Given the description of an element on the screen output the (x, y) to click on. 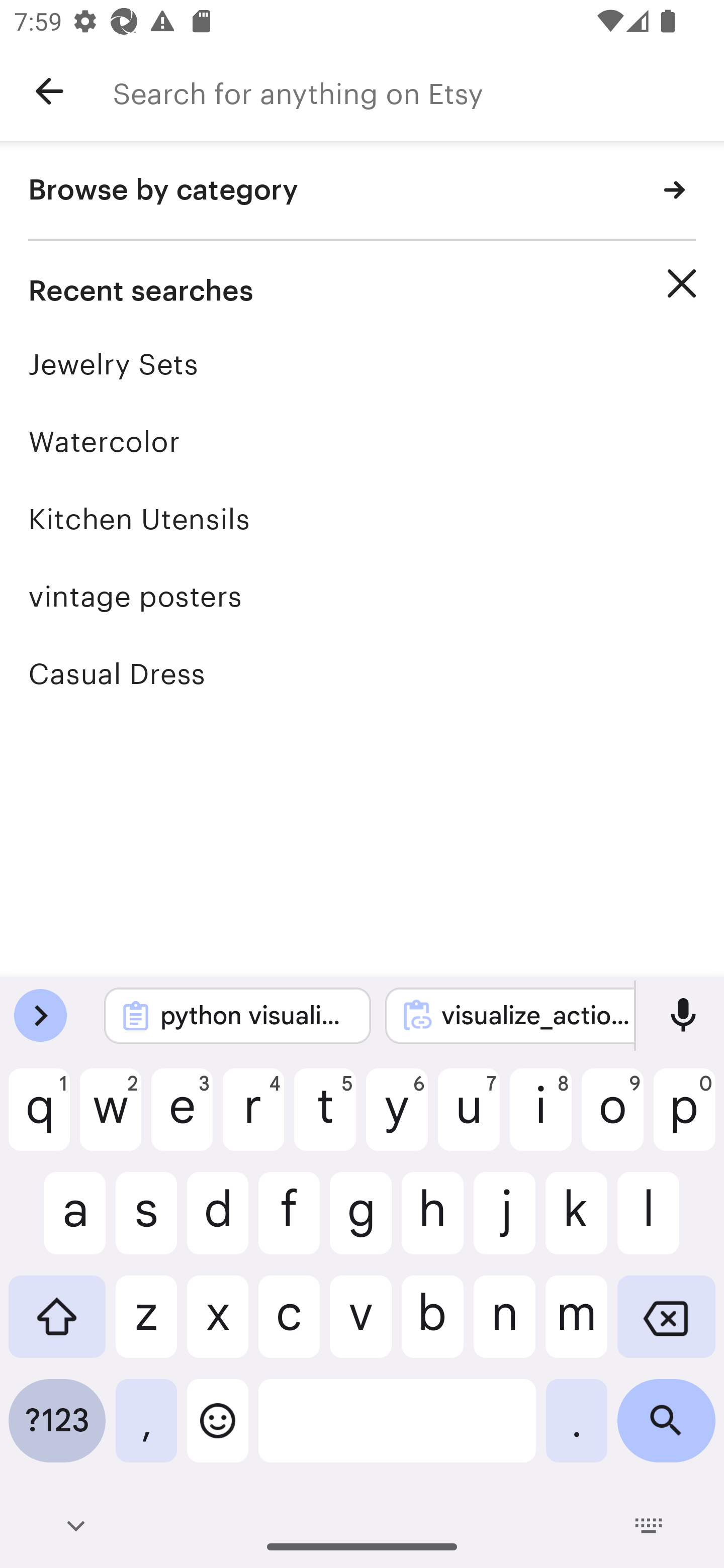
Navigate up (49, 91)
Search for anything on Etsy (418, 91)
Browse by category (362, 191)
Clear (681, 283)
Jewelry Sets (362, 364)
Watercolor (362, 440)
Kitchen Utensils (362, 518)
vintage posters (362, 596)
Casual Dress (362, 673)
